Given the description of an element on the screen output the (x, y) to click on. 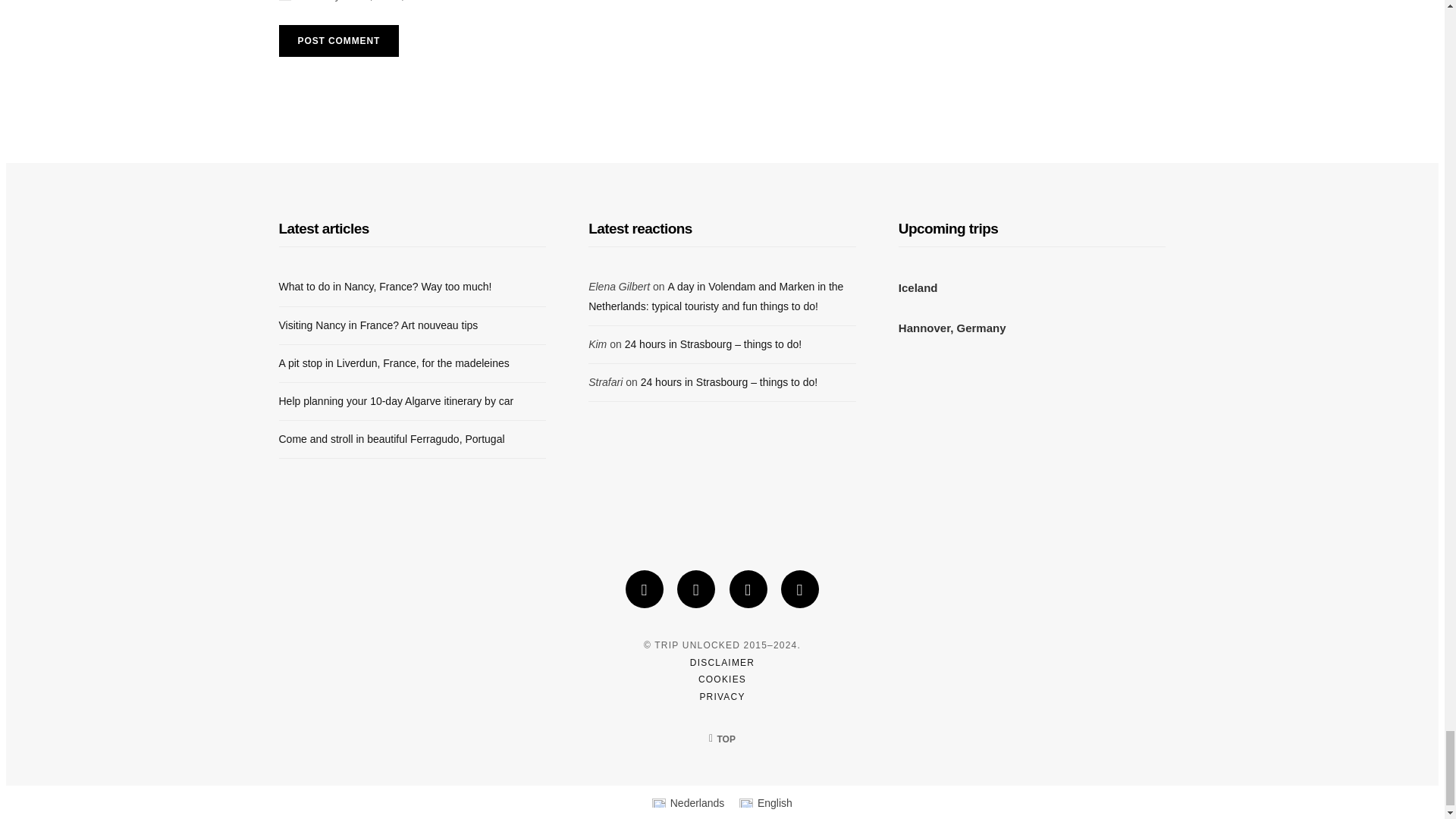
Post Comment (338, 40)
